Given the description of an element on the screen output the (x, y) to click on. 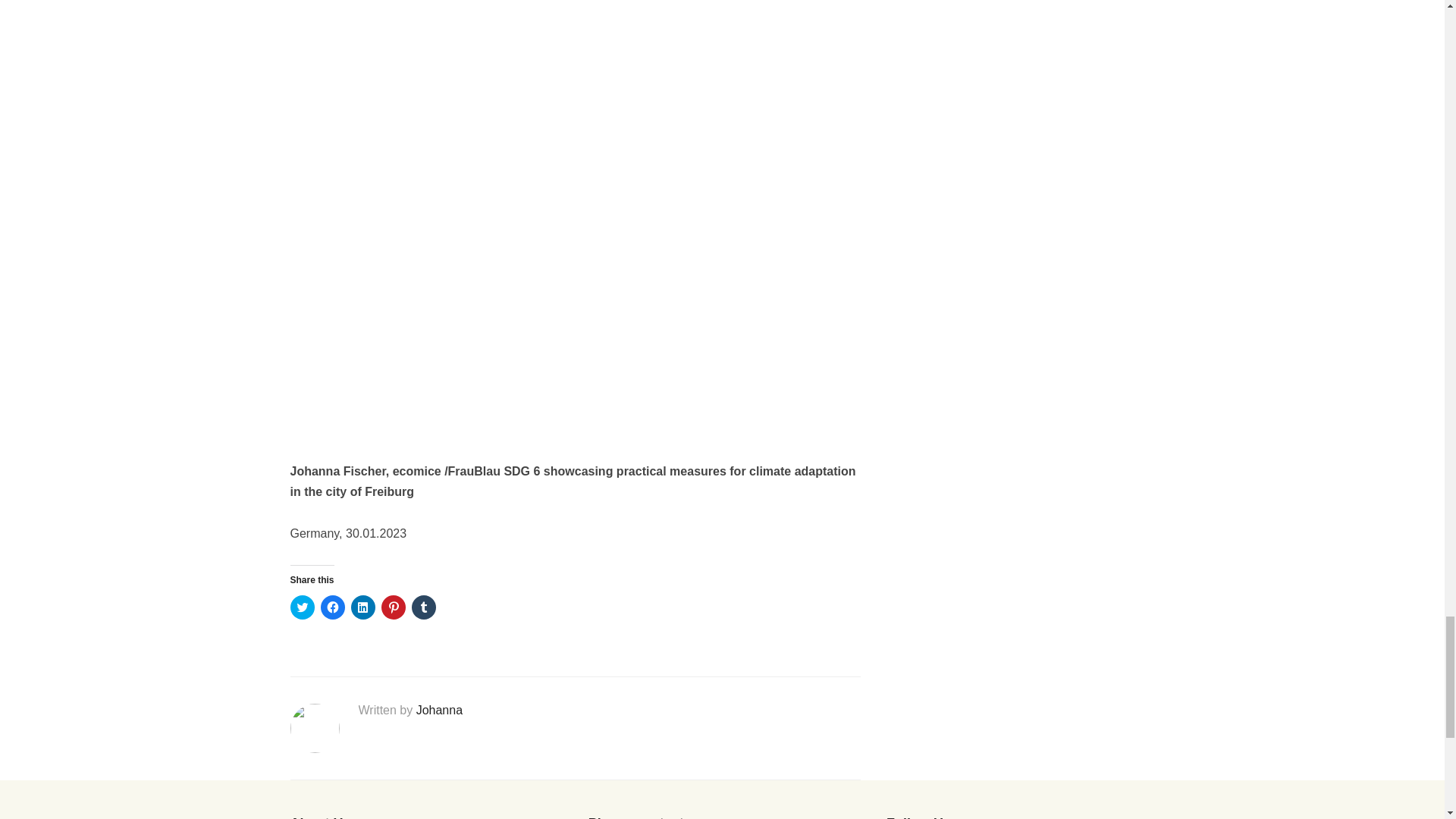
Click to share on Facebook (331, 607)
Click to share on Tumblr (422, 607)
Posts by Johanna (439, 709)
Click to share on Pinterest (392, 607)
Click to share on LinkedIn (362, 607)
Click to share on Twitter (301, 607)
Johanna (439, 709)
